Given the description of an element on the screen output the (x, y) to click on. 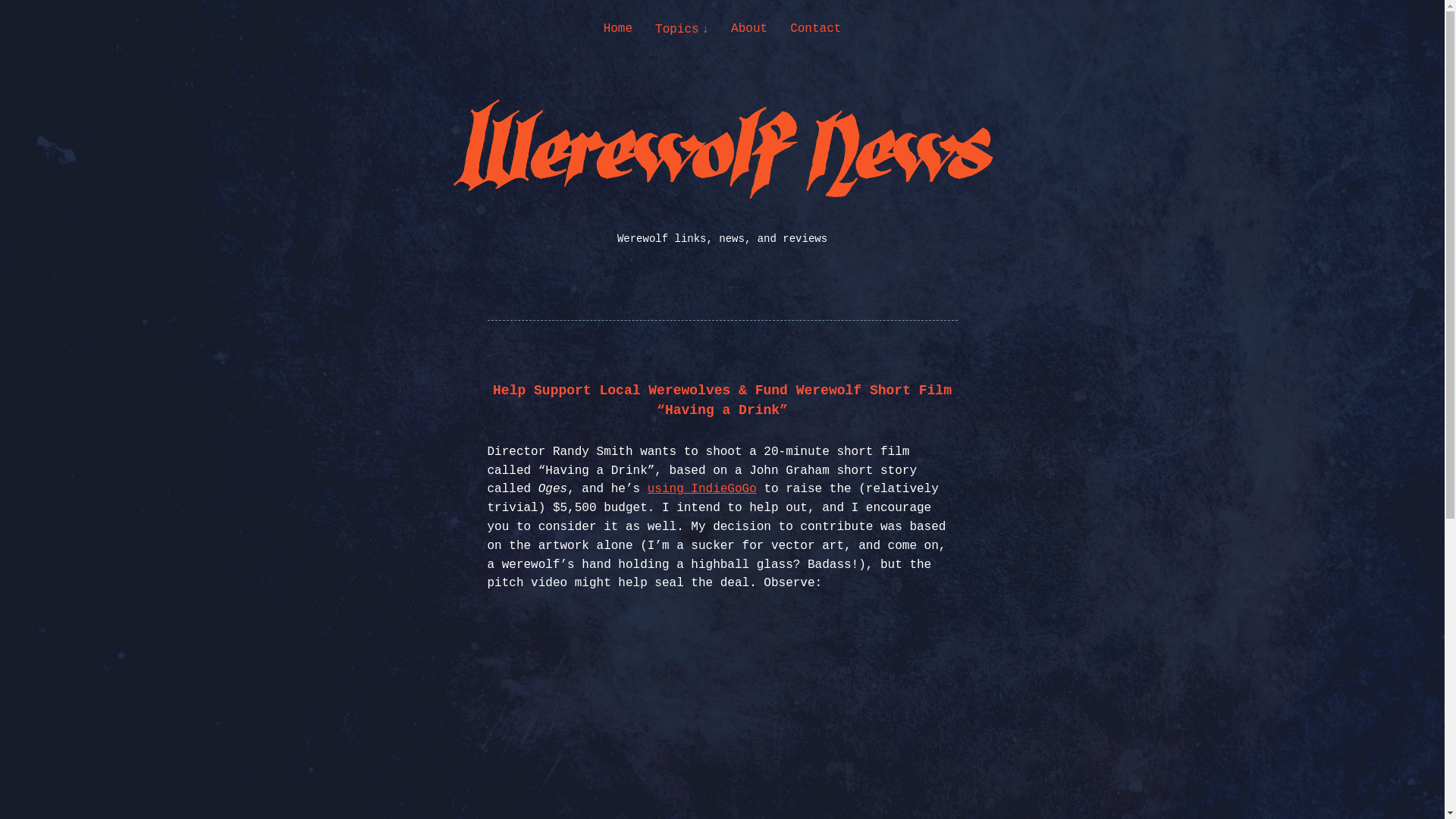
Home (617, 29)
using IndieGoGo (702, 489)
Werewolf News (143, 186)
Topics (681, 29)
Contact (815, 29)
About (748, 29)
